Given the description of an element on the screen output the (x, y) to click on. 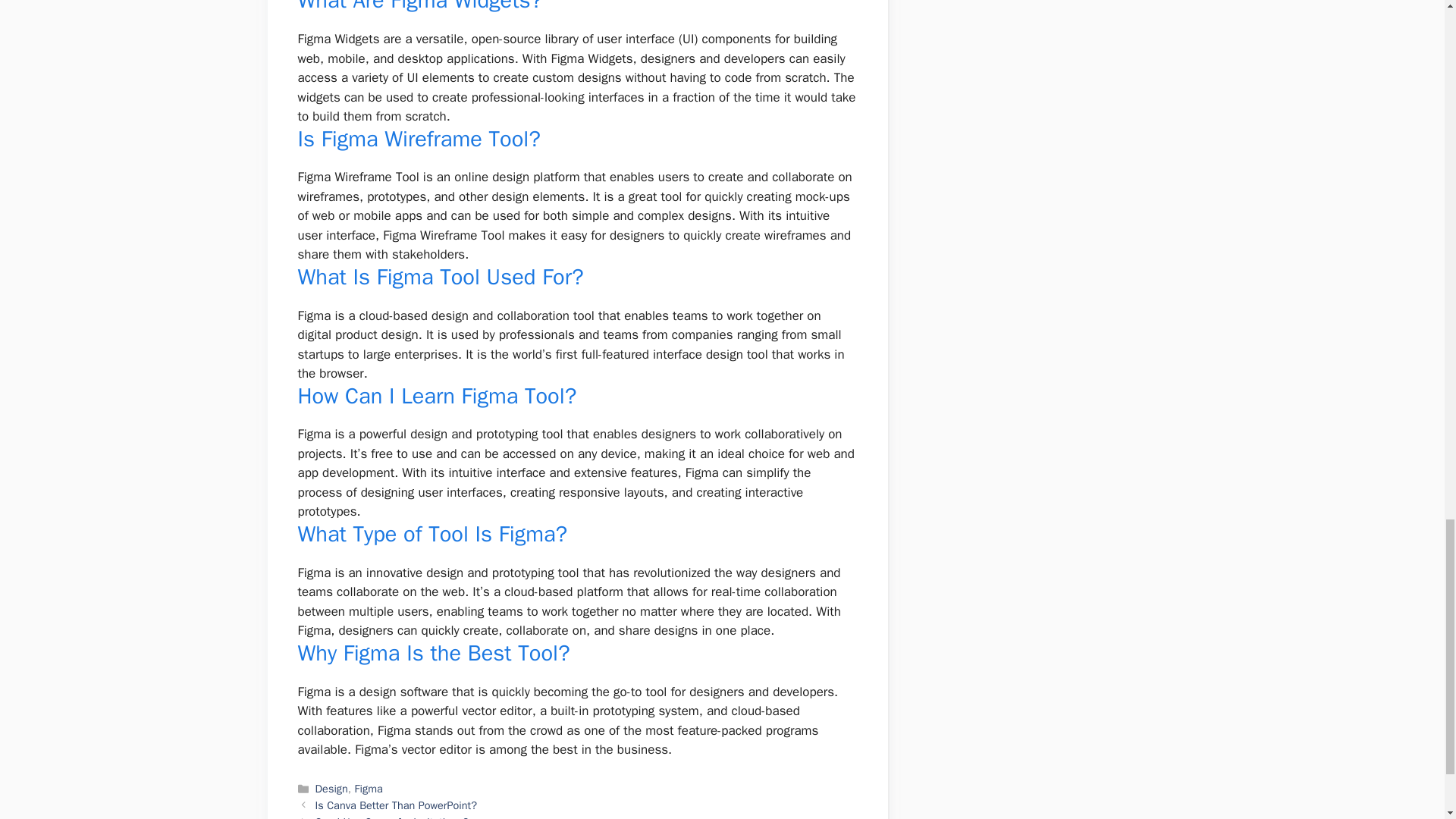
Is Canva Better Than PowerPoint? (396, 805)
What Type of Tool Is Figma? (432, 533)
Is Figma Wireframe Tool? (418, 139)
Figma (368, 788)
Design (331, 788)
What Are Figma Widgets? (419, 7)
What Is Figma Tool Used For? (440, 276)
Why Figma Is the Best Tool? (433, 653)
How Can I Learn Figma Tool? (436, 396)
Can I Use Canva for Invitations? (391, 816)
